Given the description of an element on the screen output the (x, y) to click on. 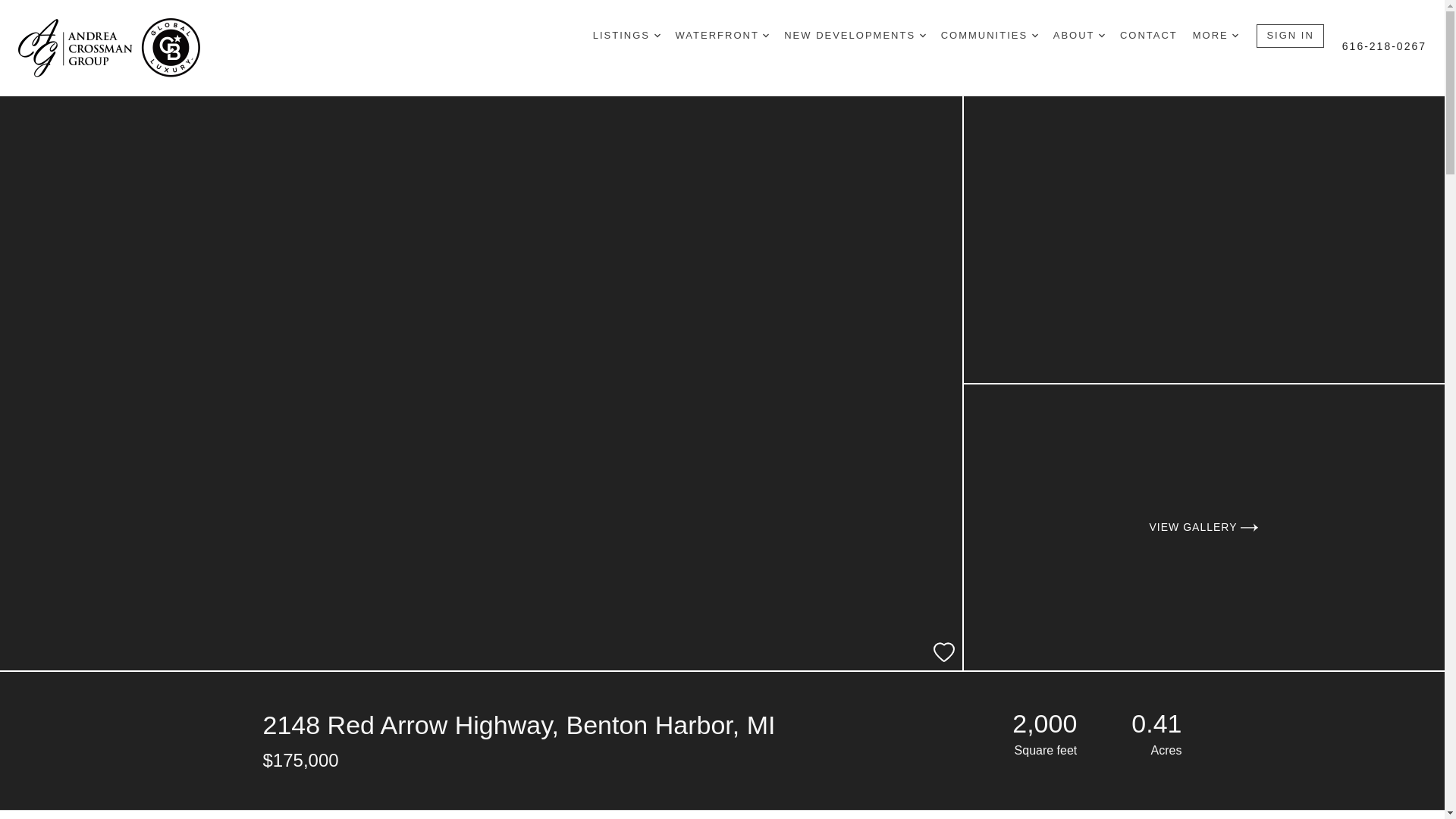
CONTACT (1148, 35)
DROPDOWN ARROW (1235, 35)
WATERFRONT DROPDOWN ARROW (722, 35)
DROPDOWN ARROW (1035, 35)
DROPDOWN ARROW (765, 35)
DROPDOWN ARROW (657, 35)
COMMUNITIES DROPDOWN ARROW (989, 35)
DROPDOWN ARROW (923, 35)
NEW DEVELOPMENTS DROPDOWN ARROW (854, 35)
LISTINGS DROPDOWN ARROW (626, 35)
